Given the description of an element on the screen output the (x, y) to click on. 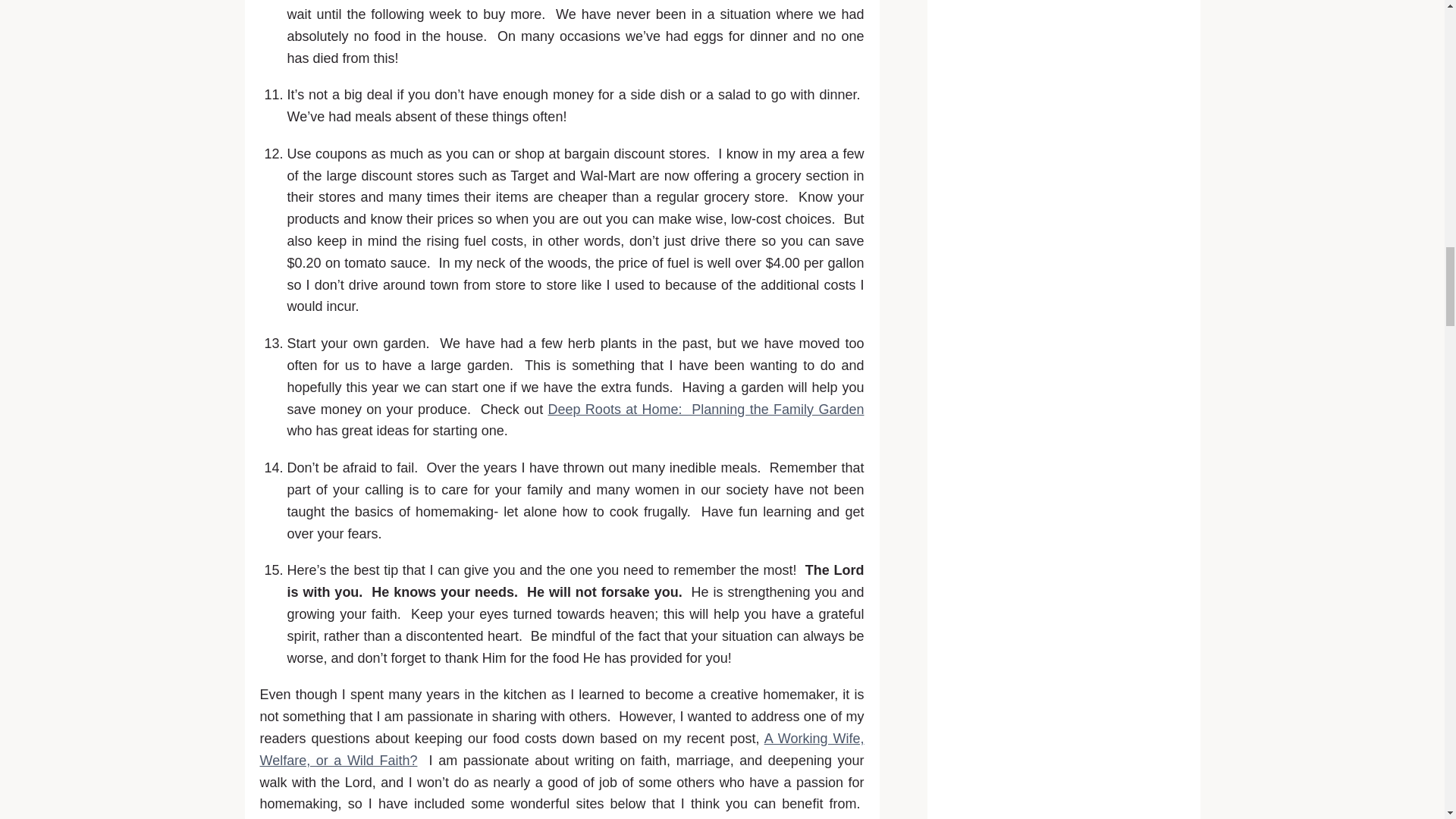
Deep Roots at Home:  Planning the Family Garden (705, 409)
A Working Wife, Welfare, or a Wild Faith? (561, 749)
A Working Wife, Welfare, or a Wild Faith? (561, 749)
Deep Roots at Home:  Planning the Family  (705, 409)
